Given the description of an element on the screen output the (x, y) to click on. 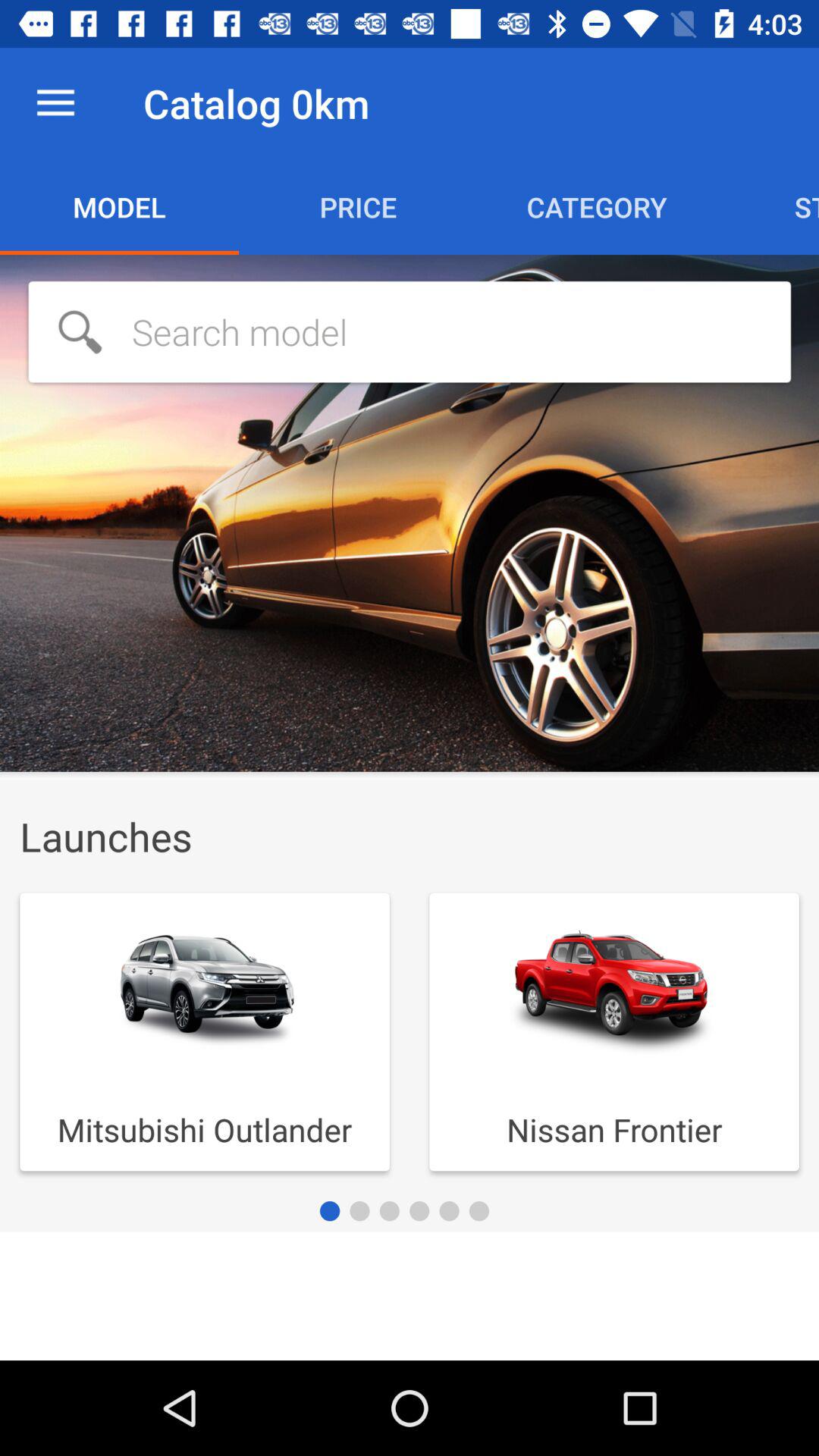
turn off item to the left of catalog 0km item (55, 103)
